Given the description of an element on the screen output the (x, y) to click on. 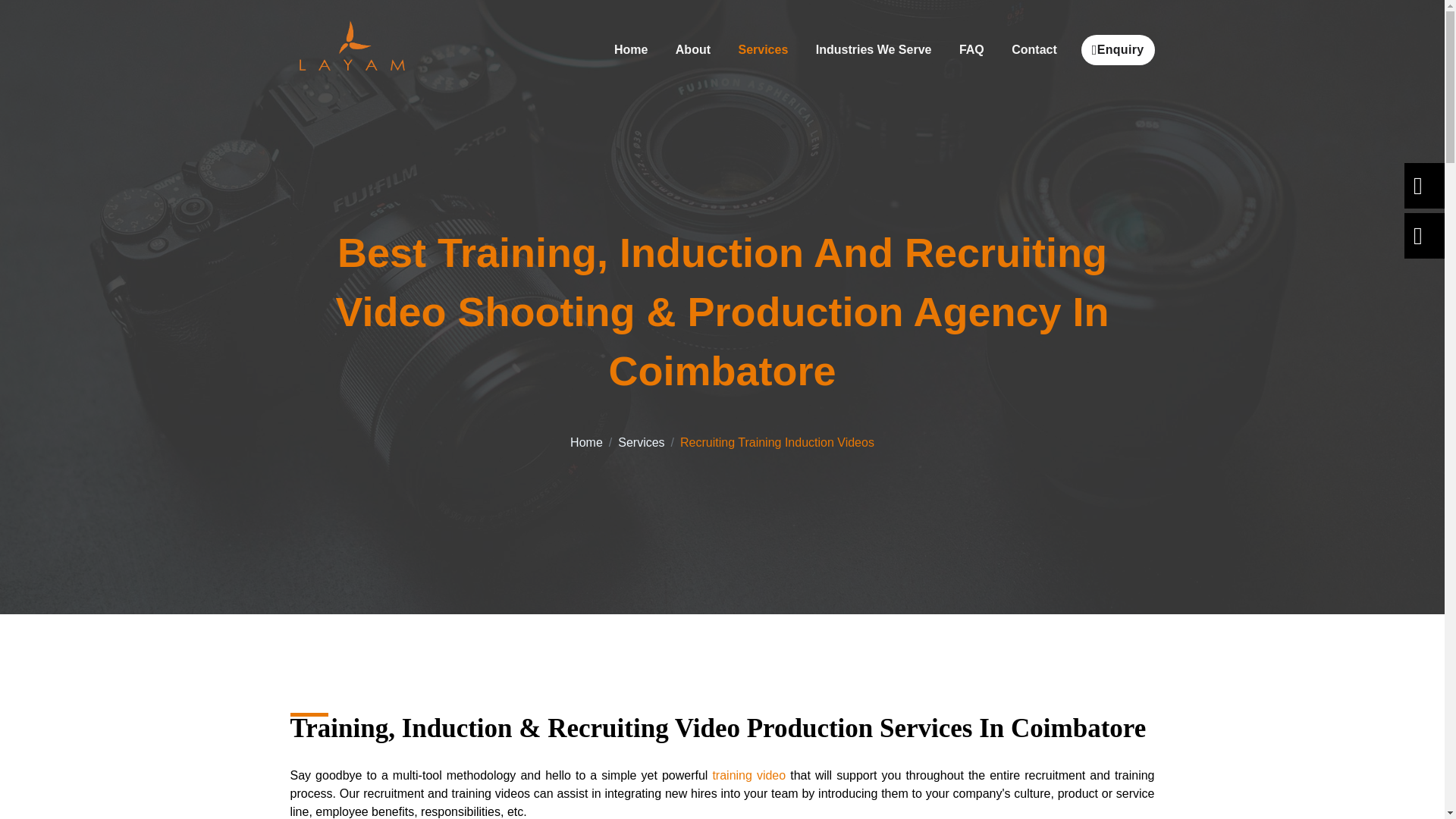
Layam Media, Coimbatore (349, 49)
FAQ (971, 50)
Home (586, 441)
About (692, 50)
Services (762, 50)
Industries We Serve (873, 50)
Home (630, 50)
Enquiry (1117, 50)
Services (640, 441)
